Given the description of an element on the screen output the (x, y) to click on. 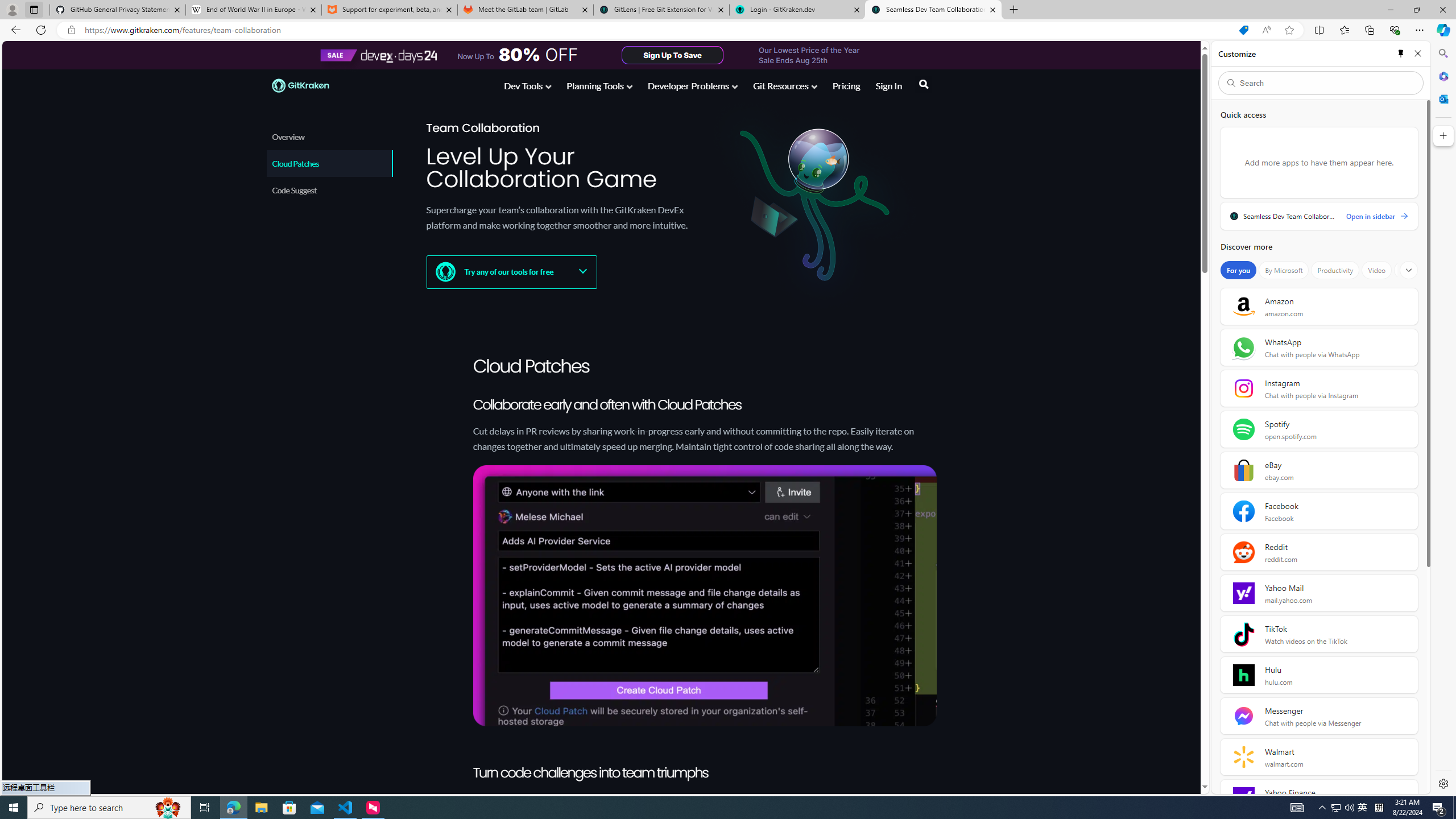
End of World War II in Europe - Wikipedia (253, 9)
GitLens | Free Git Extension for Visual Studio Code (660, 9)
Login - GitKraken.dev (797, 9)
Code Suggest (328, 190)
Seamless Dev Team Collaboration with GitKraken's Tools (933, 9)
